Given the description of an element on the screen output the (x, y) to click on. 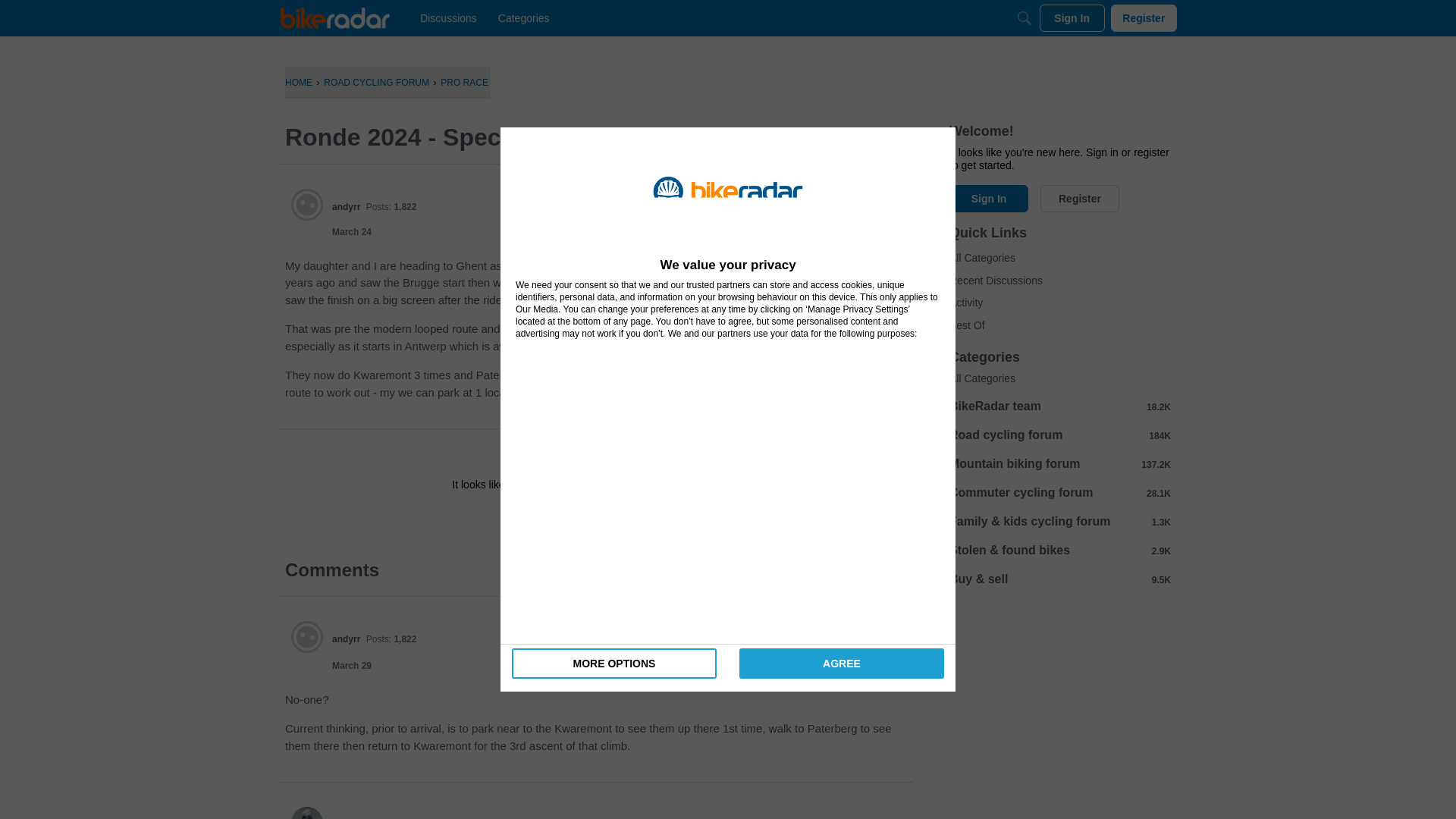
andyrr (345, 638)
Register (1080, 198)
andyrr (307, 636)
Register (1080, 198)
Sign In (547, 518)
Discussions (448, 17)
Search (1024, 17)
ROAD CYCLING FORUM (376, 81)
All Categories (1059, 258)
Sign In (1072, 17)
